Given the description of an element on the screen output the (x, y) to click on. 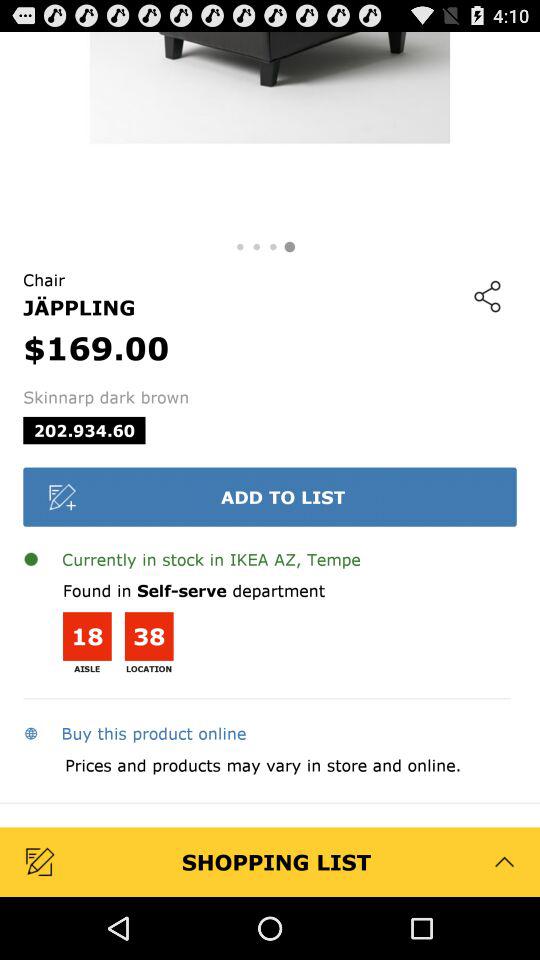
press the buy this product icon (134, 733)
